Given the description of an element on the screen output the (x, y) to click on. 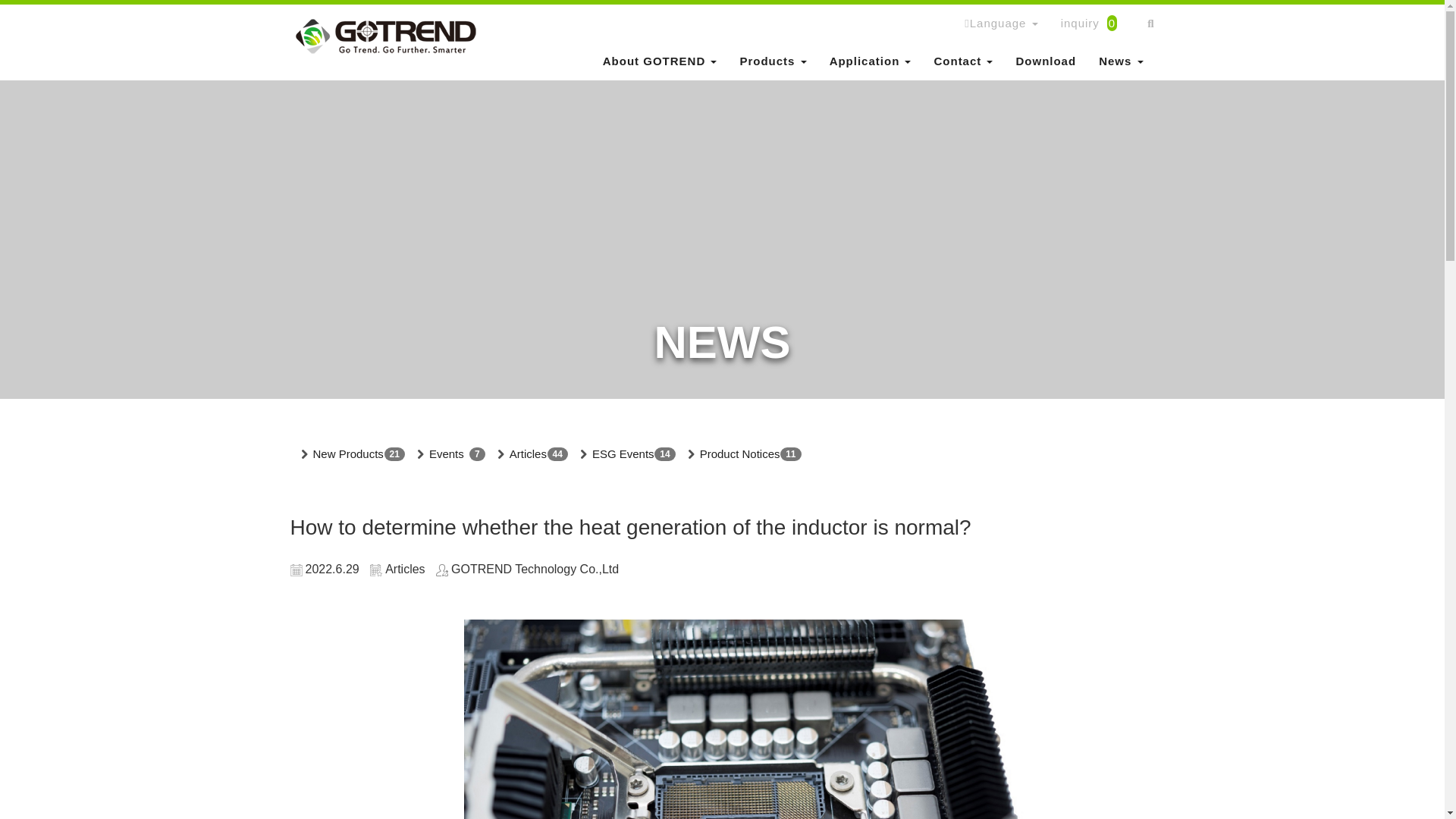
Contact (962, 61)
Application (870, 61)
About GOTREND (660, 61)
inquiry0 (1093, 23)
Product  Notices (740, 454)
Language (1000, 23)
New Products (347, 454)
Products (772, 61)
Articles  (527, 454)
ESG Events (623, 454)
